Given the description of an element on the screen output the (x, y) to click on. 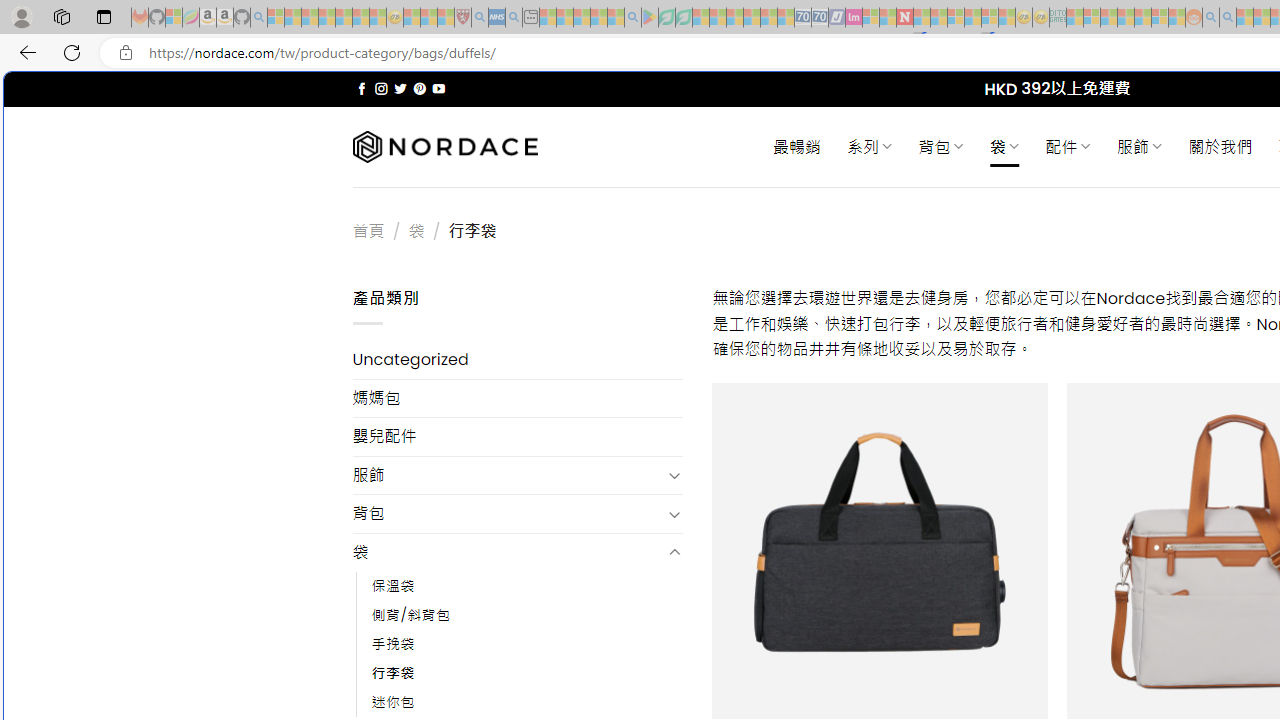
utah sues federal government - Search - Sleeping (513, 17)
